Given the description of an element on the screen output the (x, y) to click on. 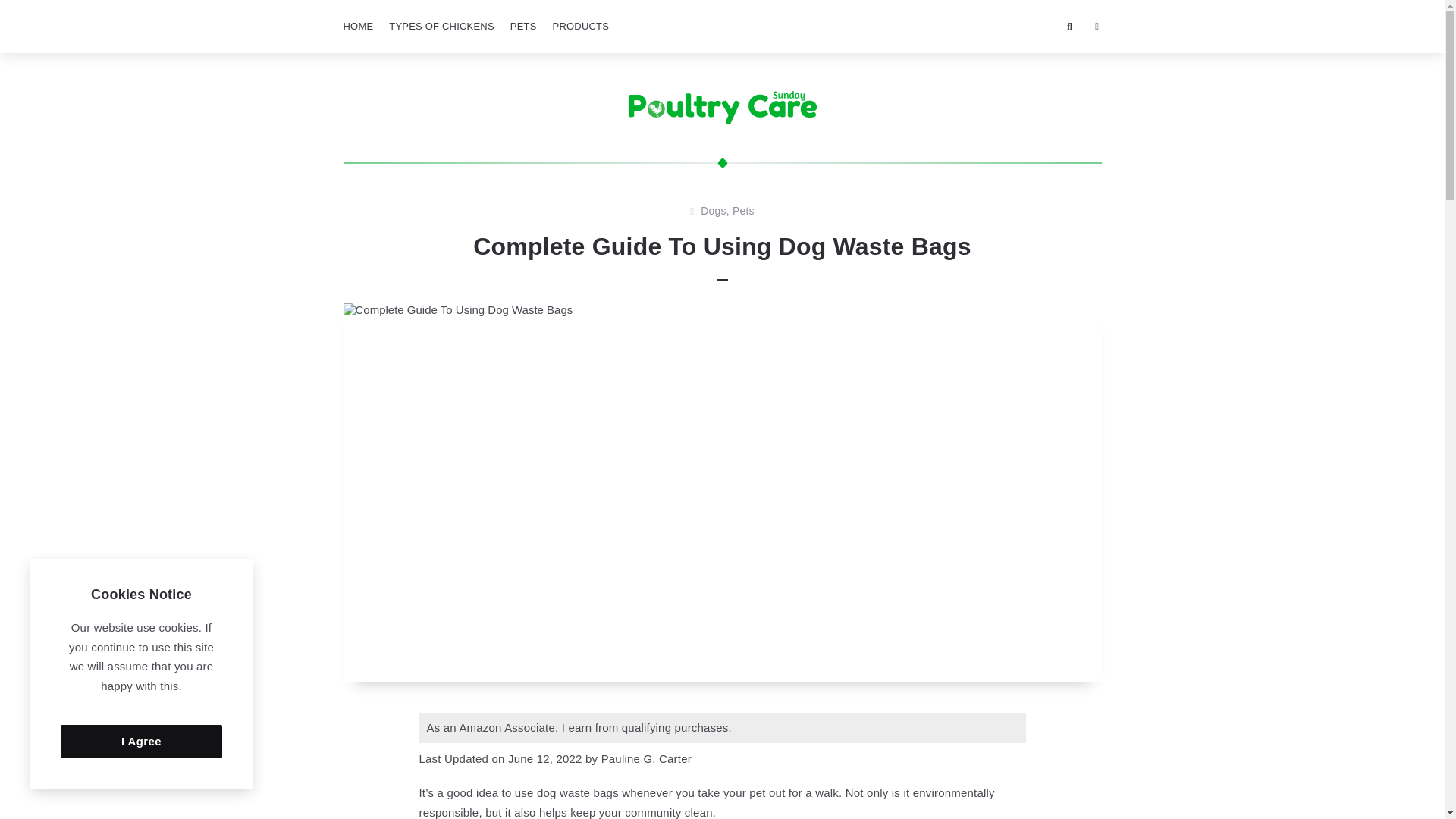
Pauline G. Carter (646, 758)
PRODUCTS (580, 26)
Dogs (712, 211)
TYPES OF CHICKENS (441, 26)
Pets (743, 211)
HOME (357, 26)
